Given the description of an element on the screen output the (x, y) to click on. 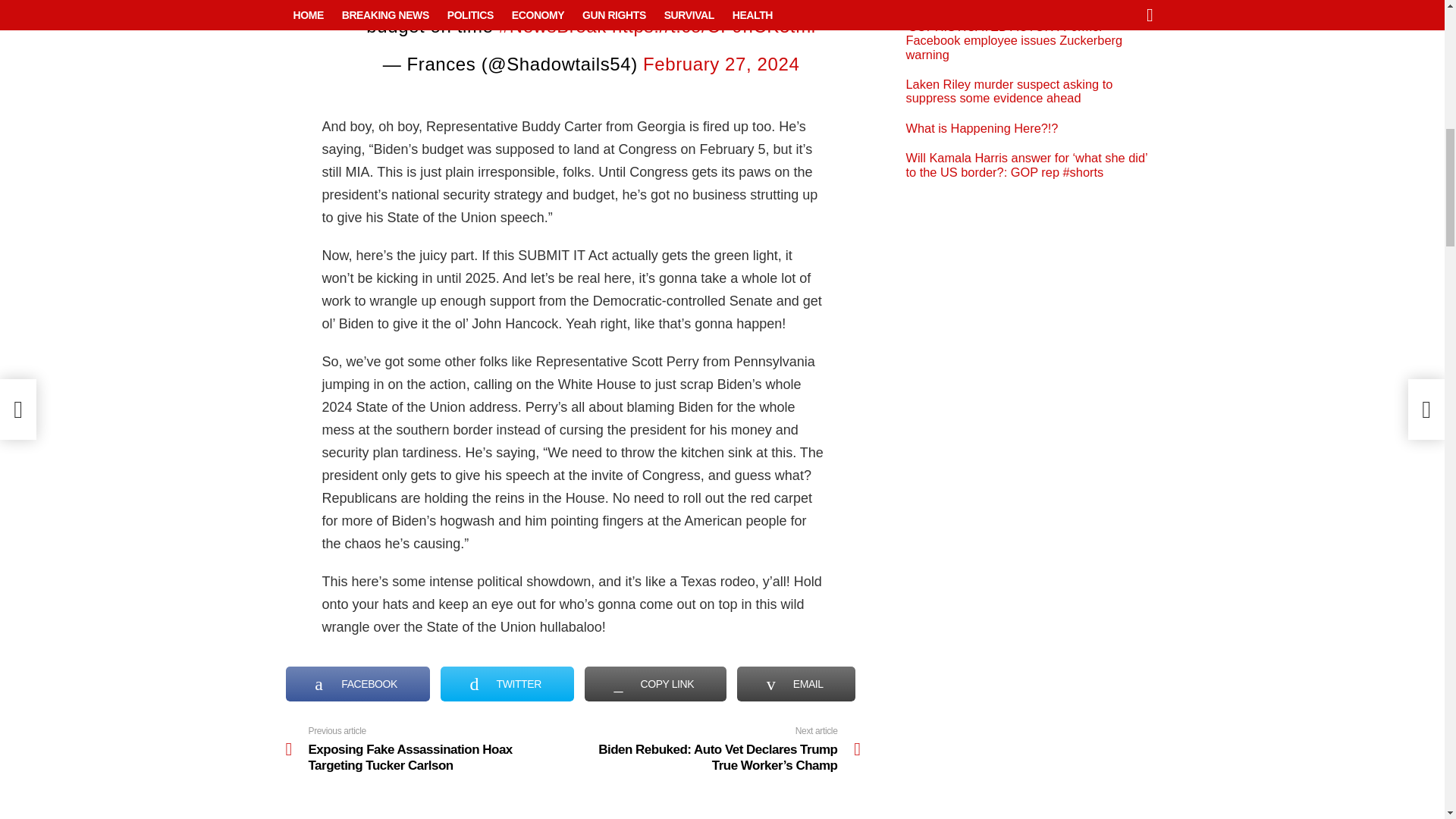
Share on Email (796, 683)
Share on Twitter (507, 683)
Share on Facebook (357, 683)
Share on Copy Link (655, 683)
